Given the description of an element on the screen output the (x, y) to click on. 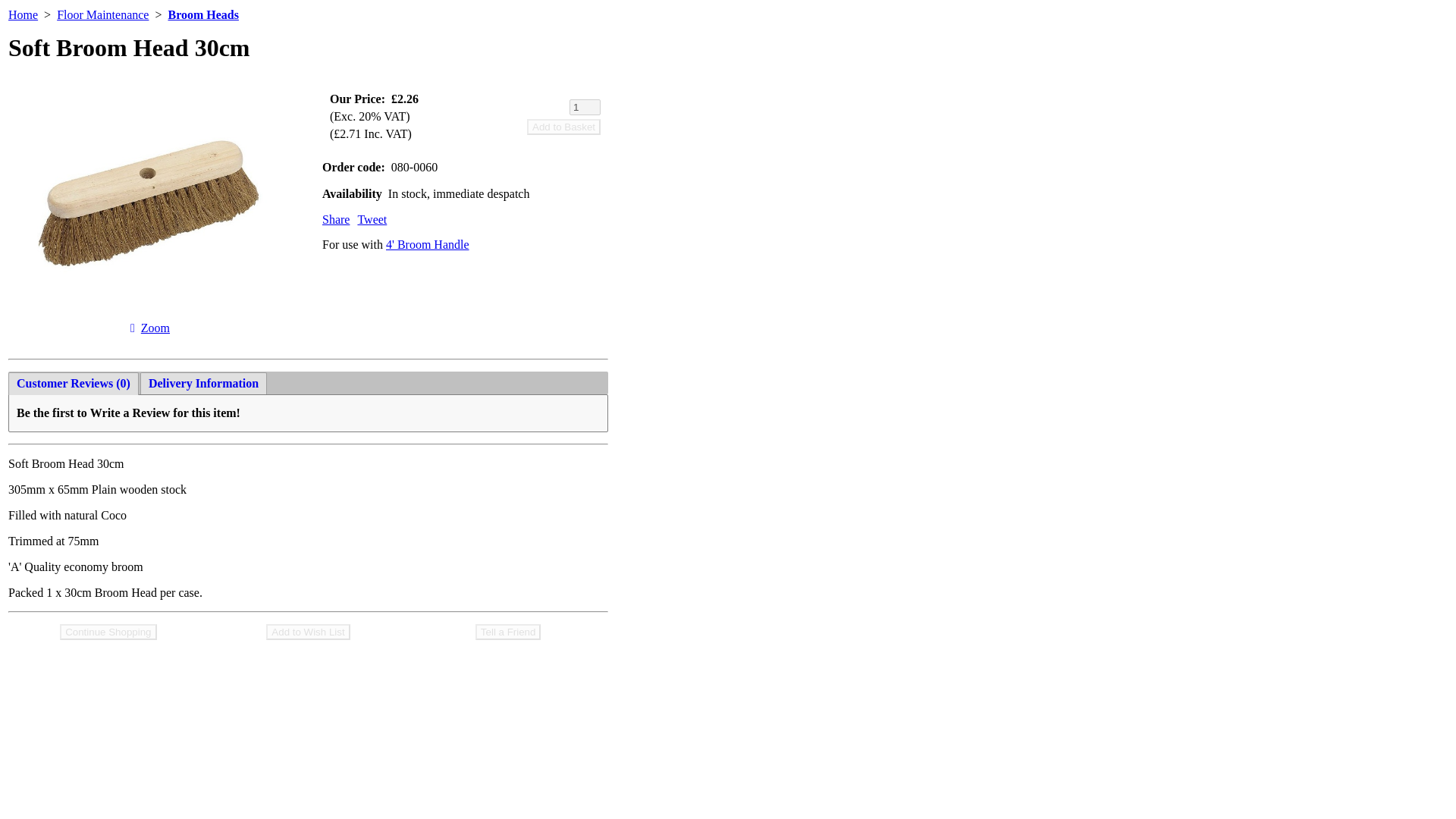
Tweet (371, 219)
4' Broom Handle (426, 244)
Zoom (155, 327)
Floor Maintenance (102, 14)
Share (335, 219)
Add to Basket (563, 125)
Delivery Information (203, 383)
1 (584, 106)
Soft Broom Head 30cm (155, 327)
Soft Broom Head 30cm (149, 312)
